Given the description of an element on the screen output the (x, y) to click on. 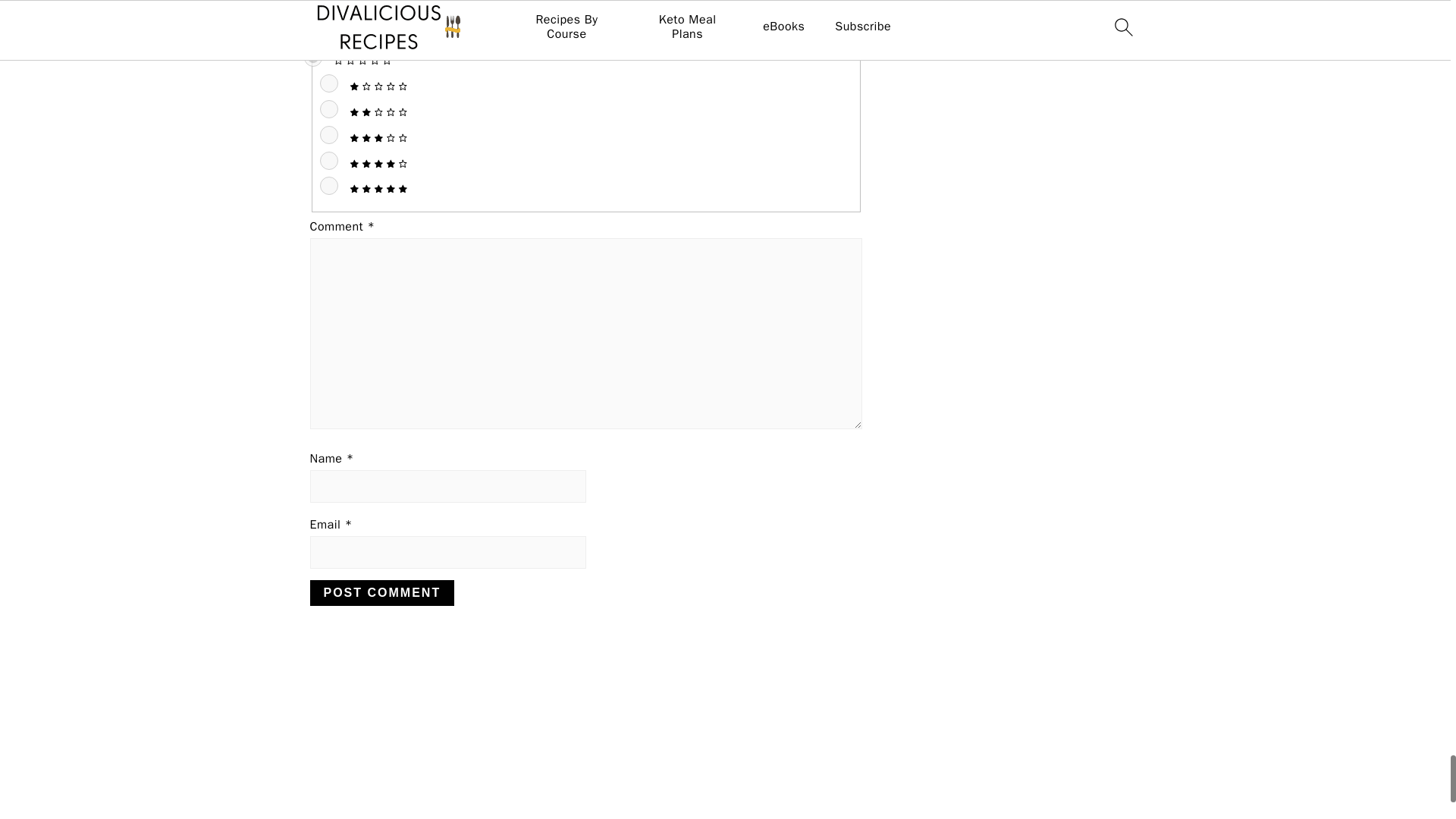
2 (328, 108)
1 (328, 83)
3 (328, 135)
5 (328, 185)
4 (328, 160)
Post Comment (381, 592)
0 (311, 57)
